Given the description of an element on the screen output the (x, y) to click on. 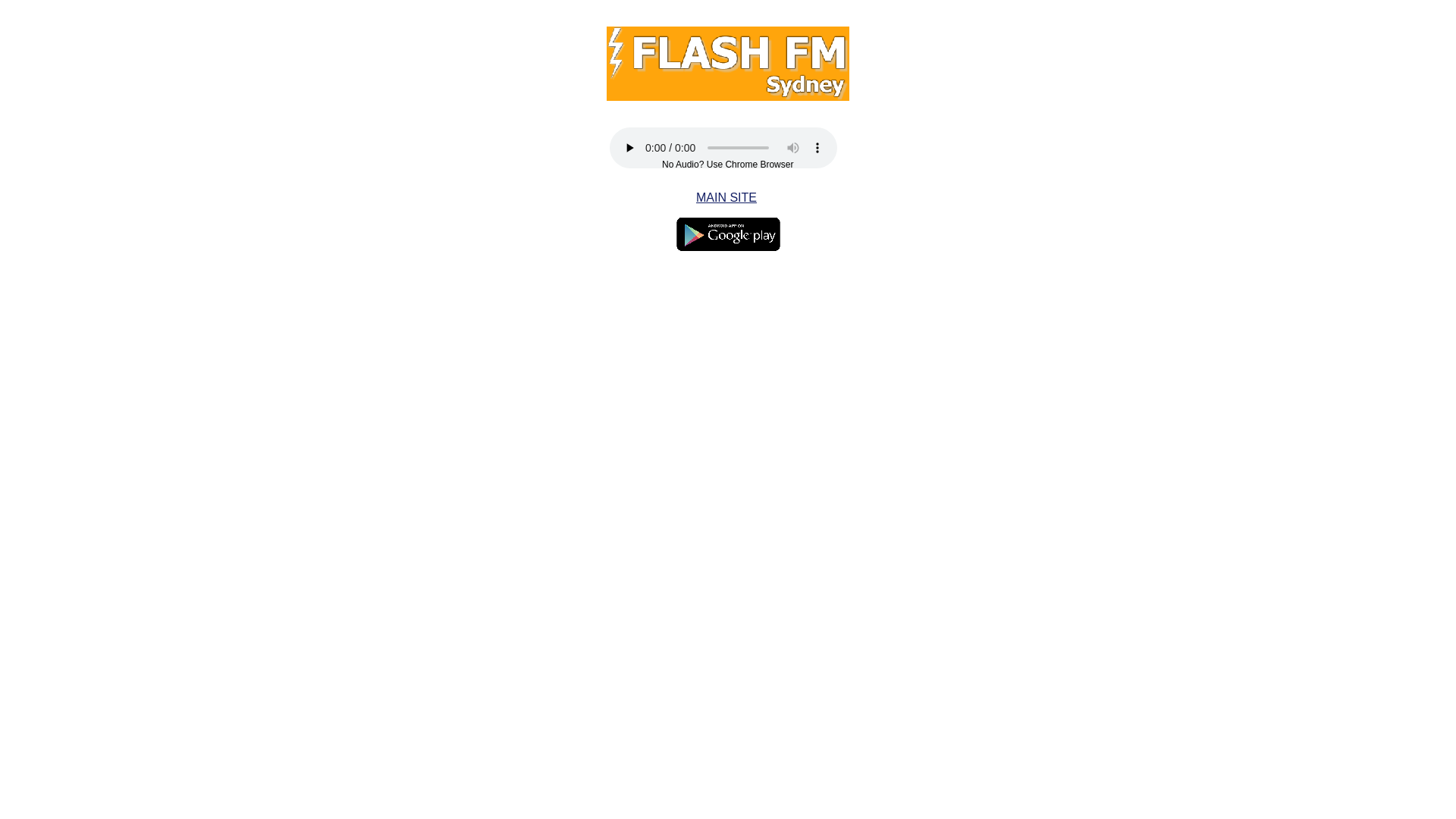
MAIN SITE Element type: text (726, 197)
